Given the description of an element on the screen output the (x, y) to click on. 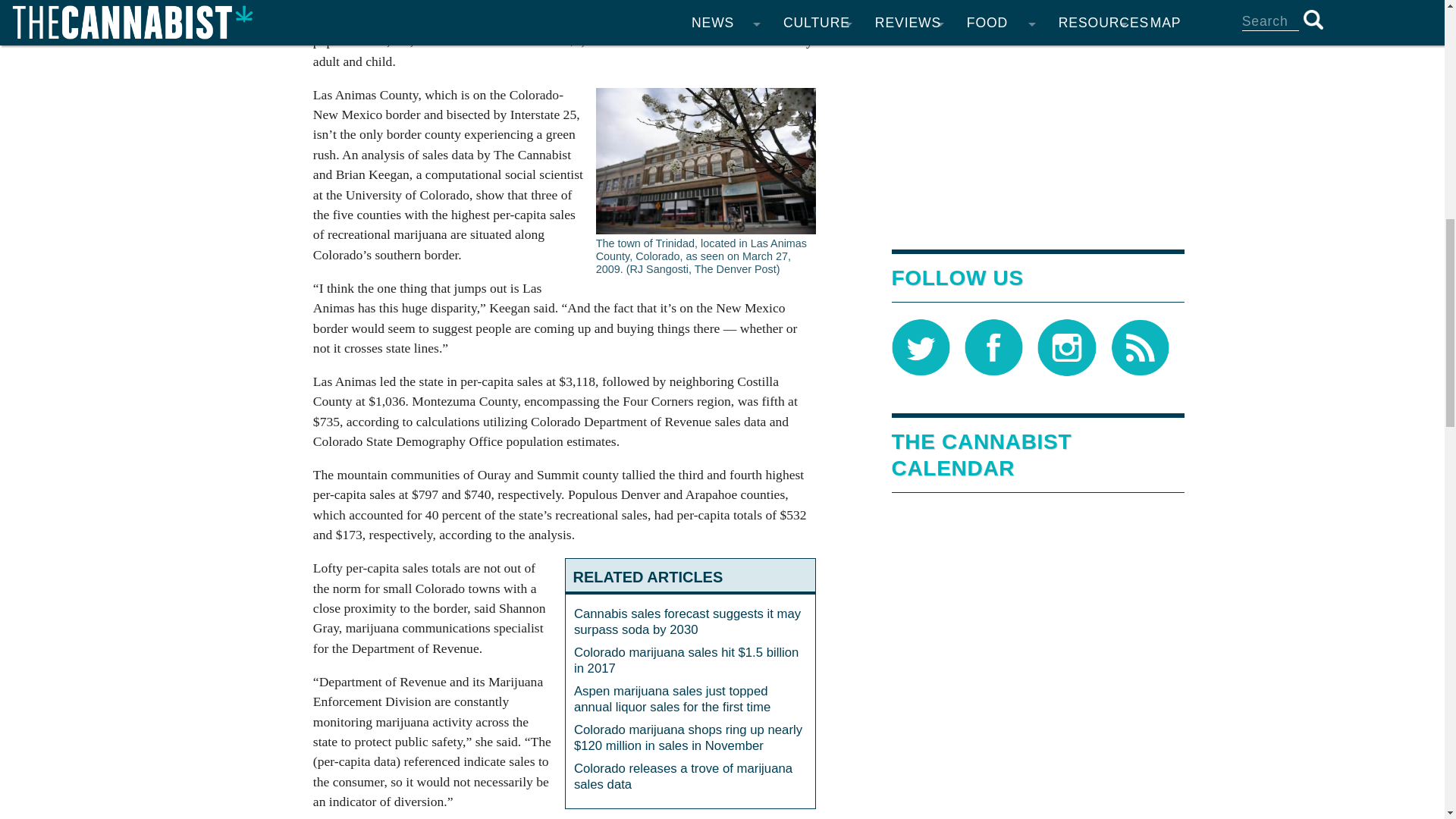
Follow The Cannabist via RSS (1139, 346)
Follow The Cannabist on Instagram (1066, 346)
Follow The Cannabist on Twitter (920, 346)
Like The Cannabist on Facebook (993, 346)
